Given the description of an element on the screen output the (x, y) to click on. 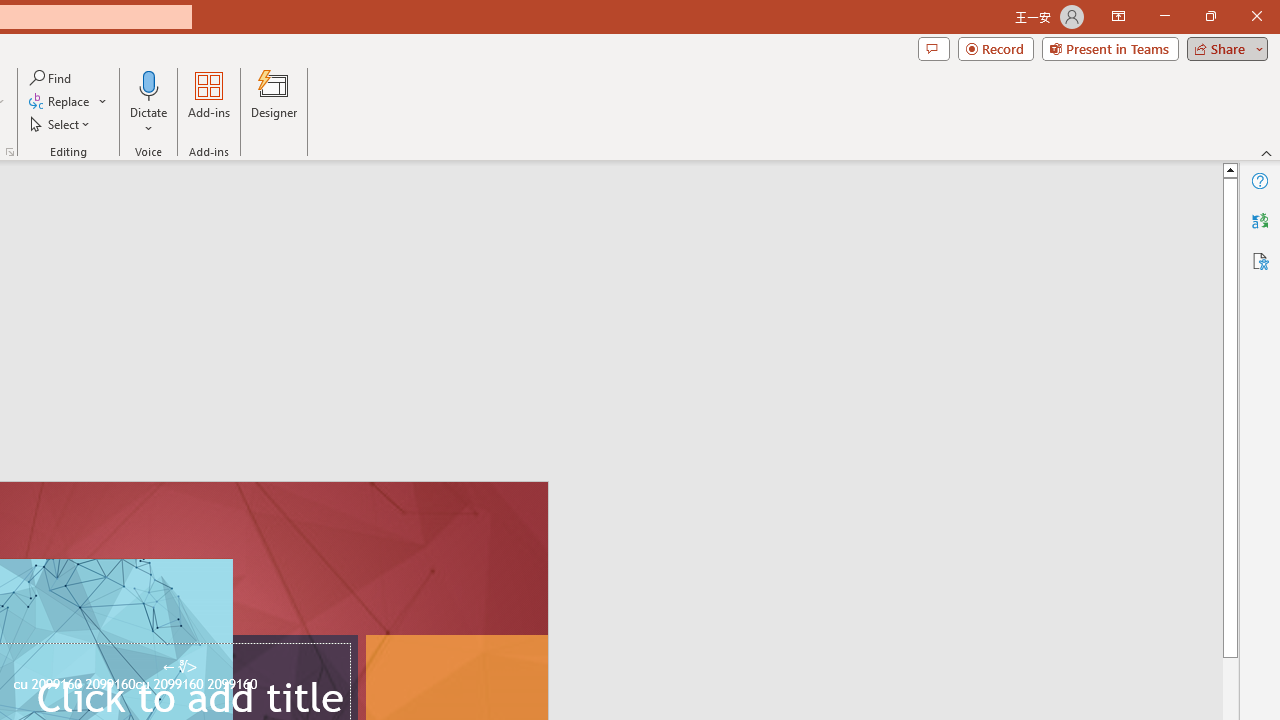
Translator (1260, 220)
TextBox 61 (186, 686)
TextBox 7 (179, 667)
Format Object... (9, 151)
Select (61, 124)
